Given the description of an element on the screen output the (x, y) to click on. 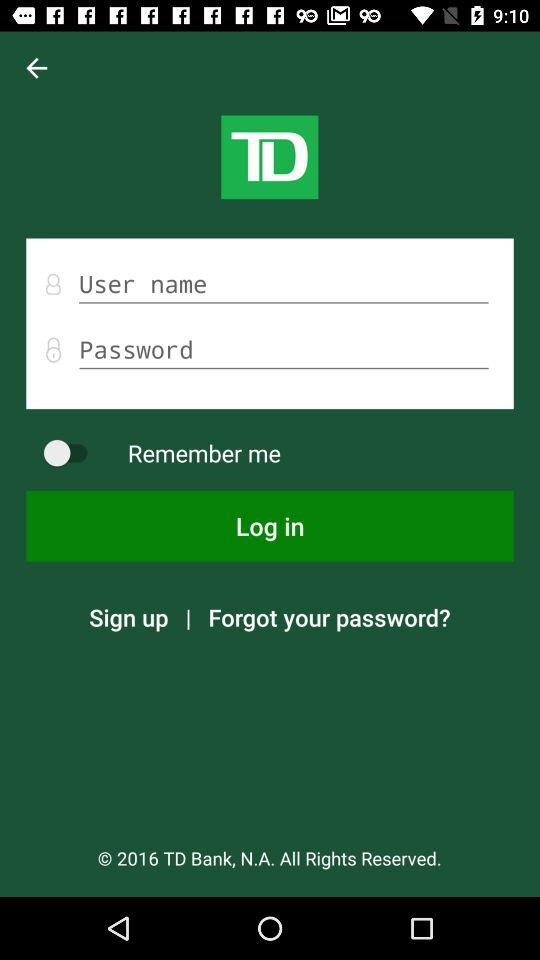
turn on log in (269, 525)
